Given the description of an element on the screen output the (x, y) to click on. 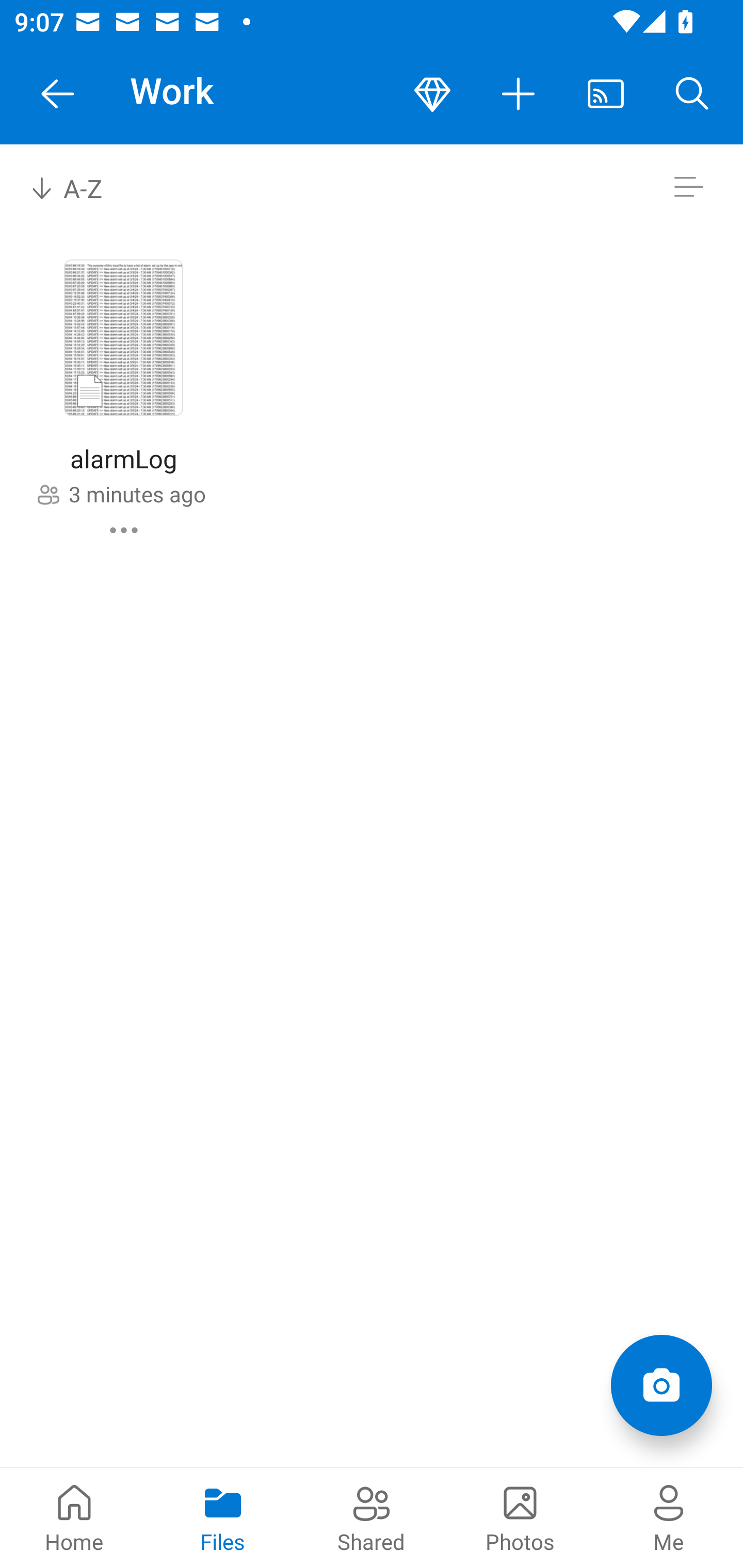
Navigate Up (57, 93)
Cast. Disconnected (605, 93)
Premium button (432, 93)
More actions button (518, 93)
Search button (692, 93)
A-Z Sort by combo box, sort by name, A to Z (80, 187)
Switch to list view (688, 187)
3 minutes ago (136, 493)
alarmLog commands (123, 529)
Add items Scan (660, 1385)
Home pivot Home (74, 1517)
Shared pivot Shared (371, 1517)
Photos pivot Photos (519, 1517)
Me pivot Me (668, 1517)
